Given the description of an element on the screen output the (x, y) to click on. 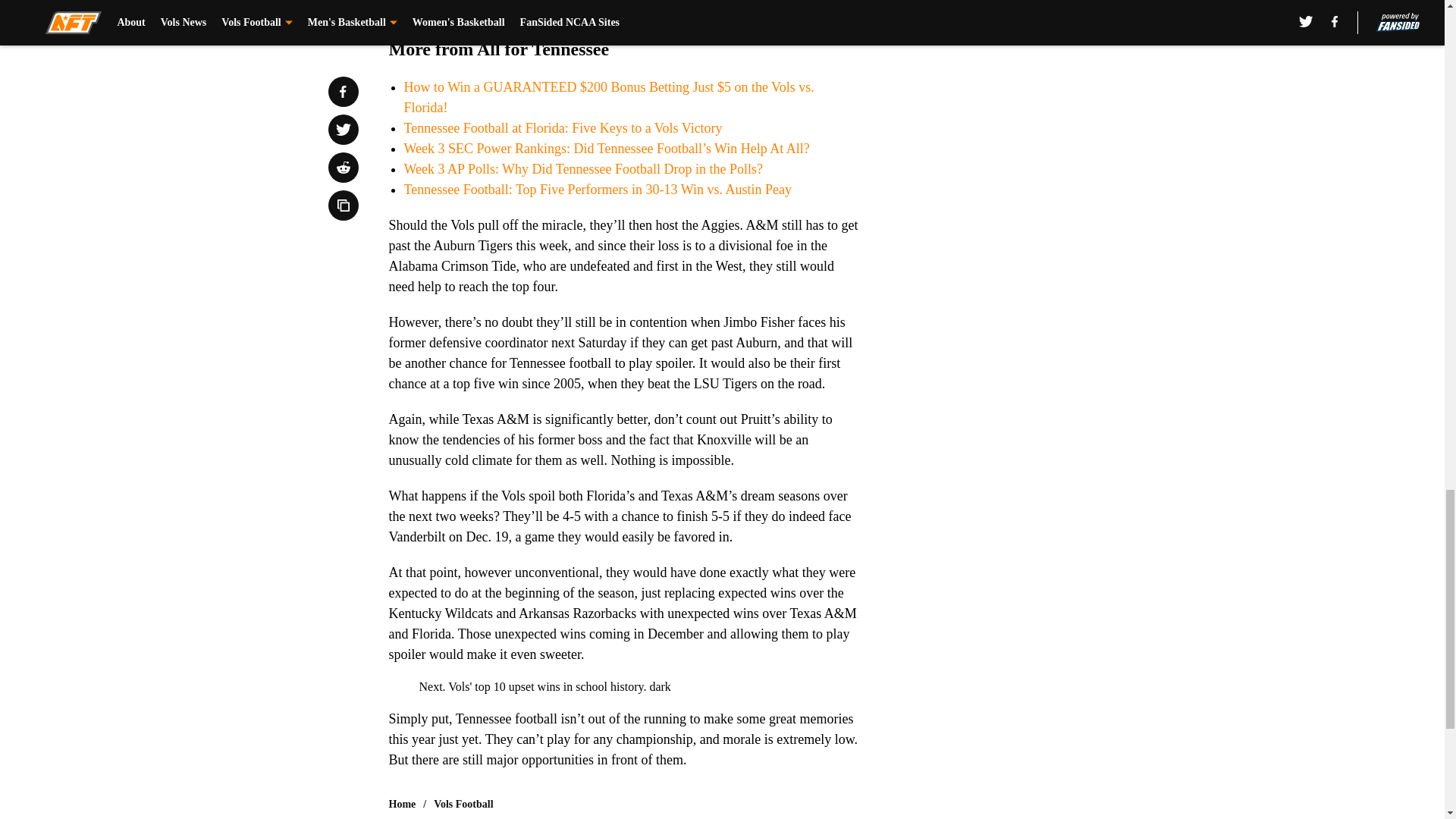
Tennessee Football at Florida: Five Keys to a Vols Victory (562, 127)
Vols Football (463, 804)
Home (401, 804)
